Given the description of an element on the screen output the (x, y) to click on. 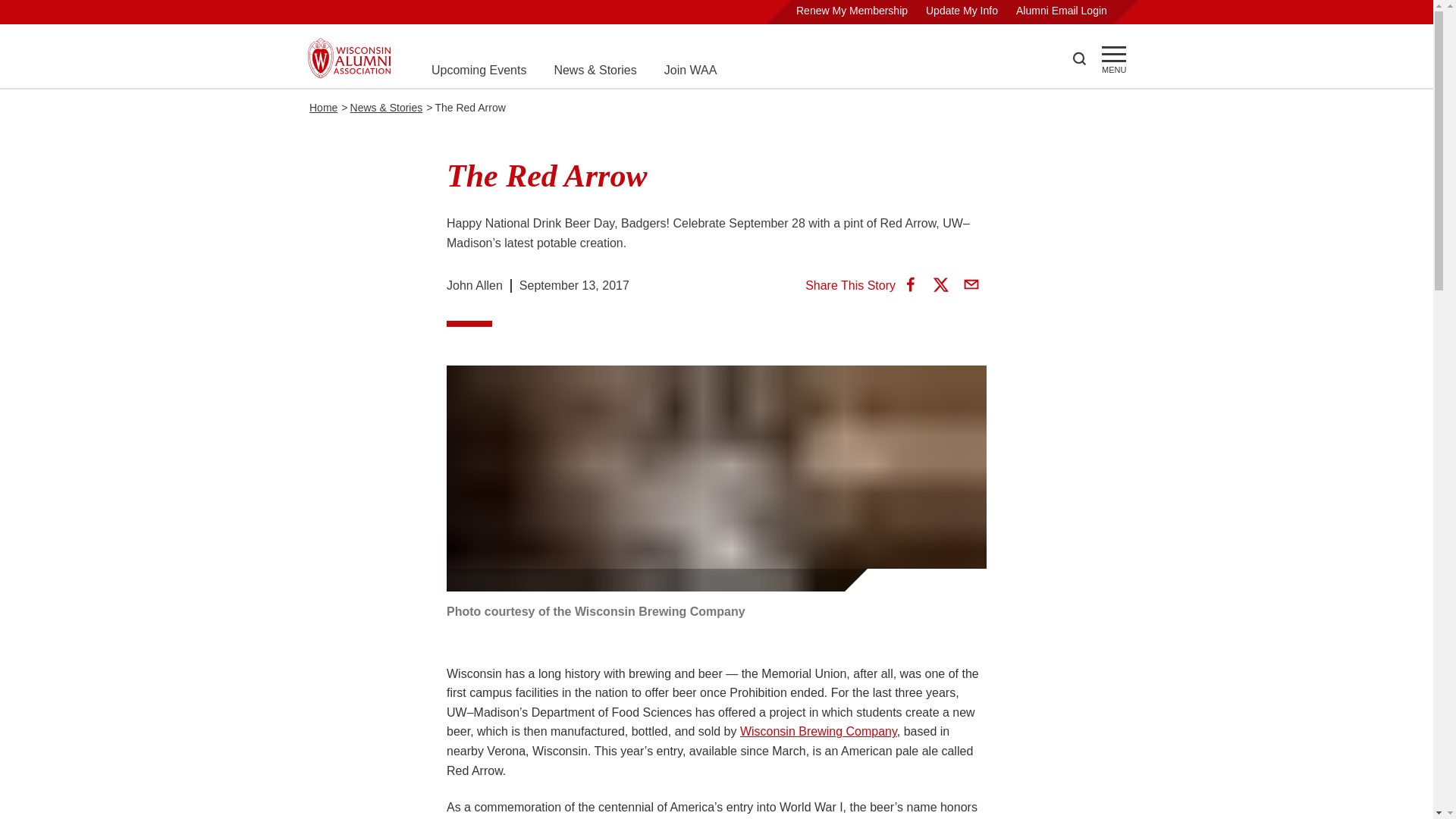
Alumni Email Login (1061, 10)
Wisconsin Brewing Company (817, 730)
Upcoming Events (477, 70)
Home (322, 107)
Renew My Membership (851, 10)
Update My Info (961, 10)
Join WAA (690, 70)
